Given the description of an element on the screen output the (x, y) to click on. 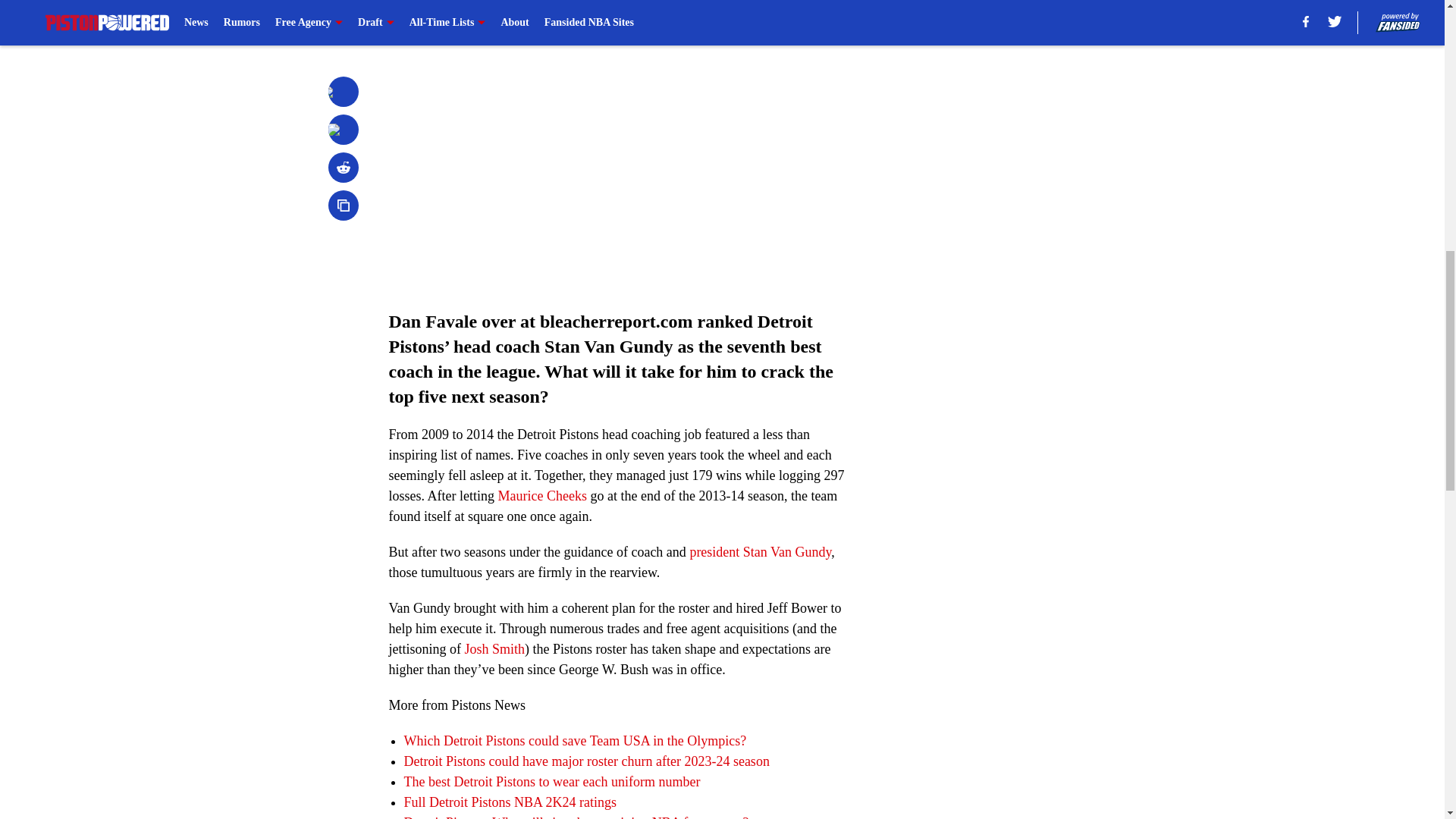
Which Detroit Pistons could save Team USA in the Olympics? (574, 740)
Maurice Cheeks (541, 495)
The best Detroit Pistons to wear each uniform number (551, 781)
Full Detroit Pistons NBA 2K24 ratings (509, 801)
Josh Smith (494, 648)
president Stan Van Gundy (759, 551)
